Given the description of an element on the screen output the (x, y) to click on. 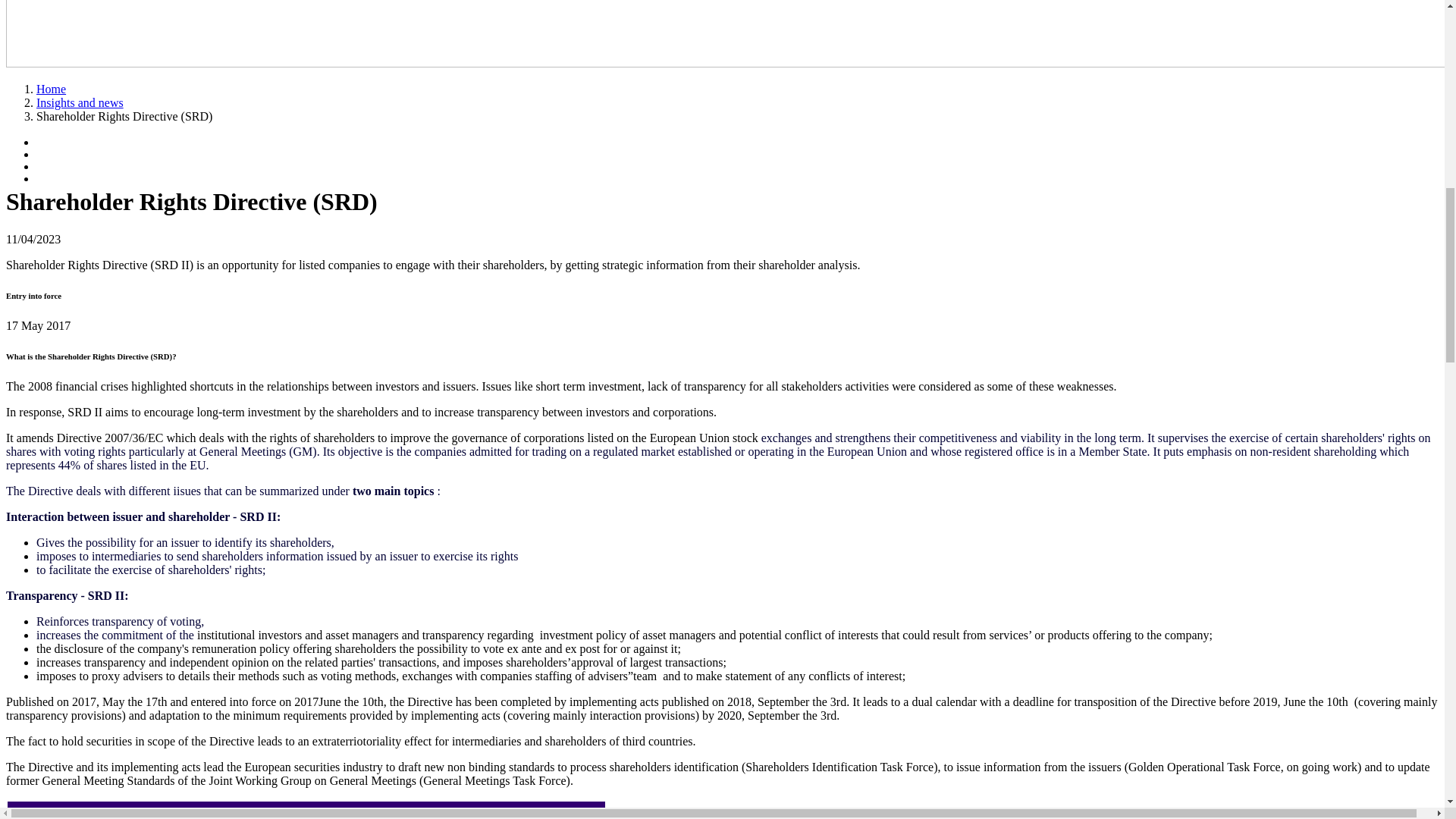
Insights and news (79, 102)
Home (50, 88)
